Given the description of an element on the screen output the (x, y) to click on. 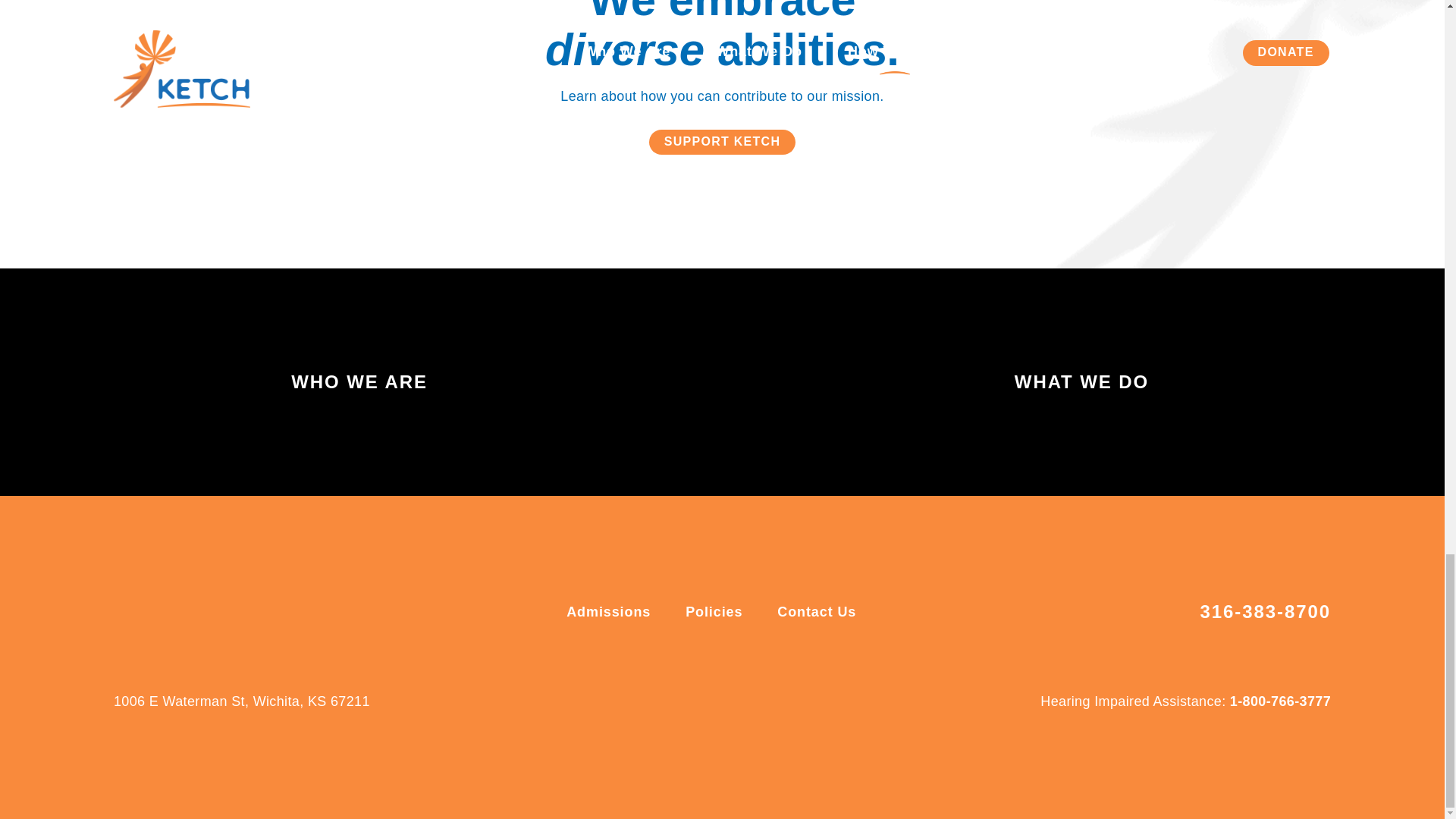
Contact Us (815, 611)
SUPPORT KETCH (722, 141)
316-383-8700 (1264, 611)
Admissions (610, 611)
1006 E Waterman St, Wichita, KS 67211 (241, 701)
KETCH on Twitter (744, 700)
Policies (715, 611)
KETCH on Facebook (699, 700)
